Given the description of an element on the screen output the (x, y) to click on. 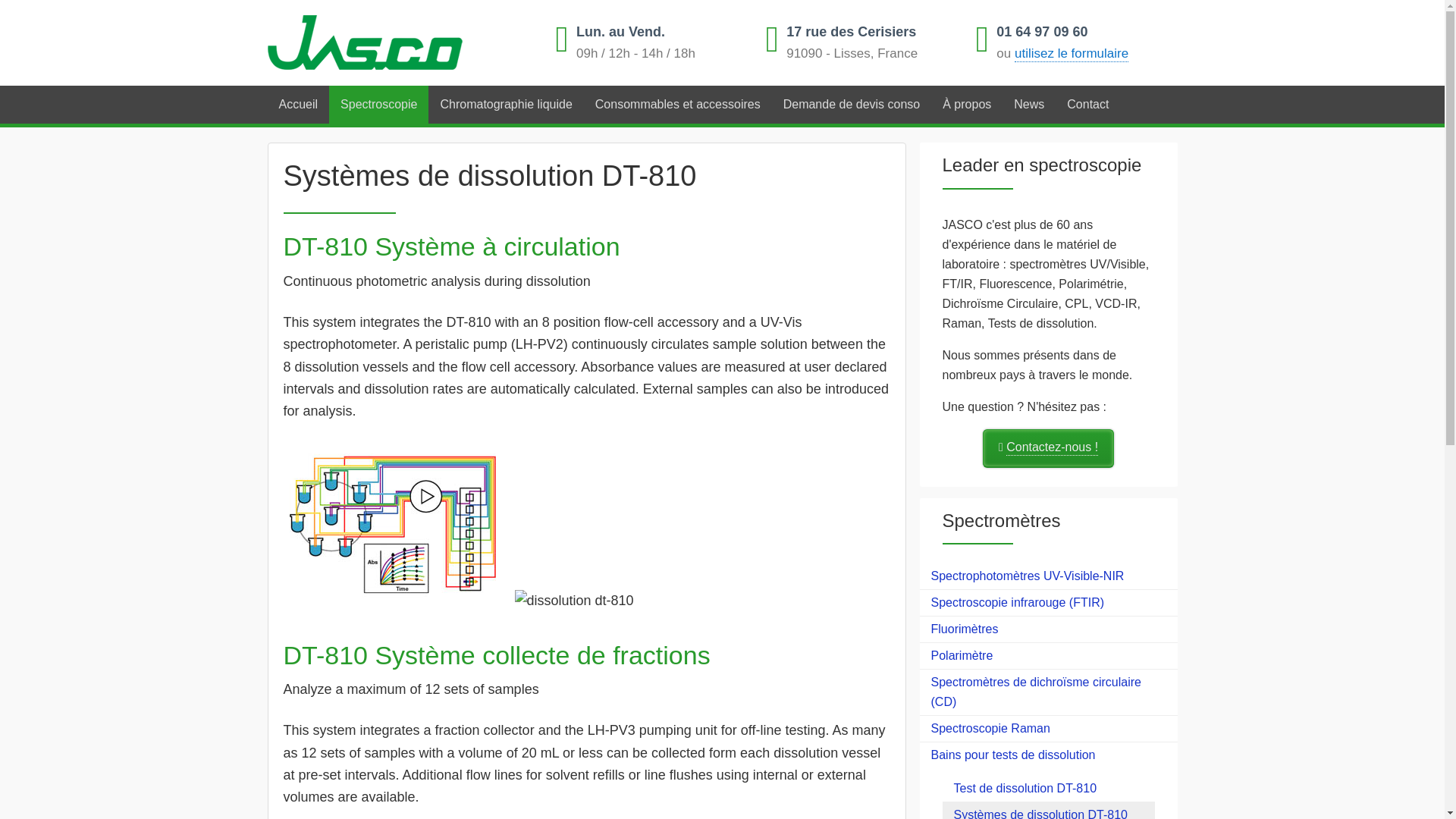
Demande de devis conso (851, 104)
Spectroscopie Raman (1047, 728)
Contactez-nous ! (1047, 448)
utilisez le formulaire (1071, 53)
News (1029, 104)
Chromatographie liquide (505, 104)
Jasco France (384, 43)
Spectroscopie (378, 104)
Accueil (297, 104)
Consommables et accessoires (677, 104)
